Given the description of an element on the screen output the (x, y) to click on. 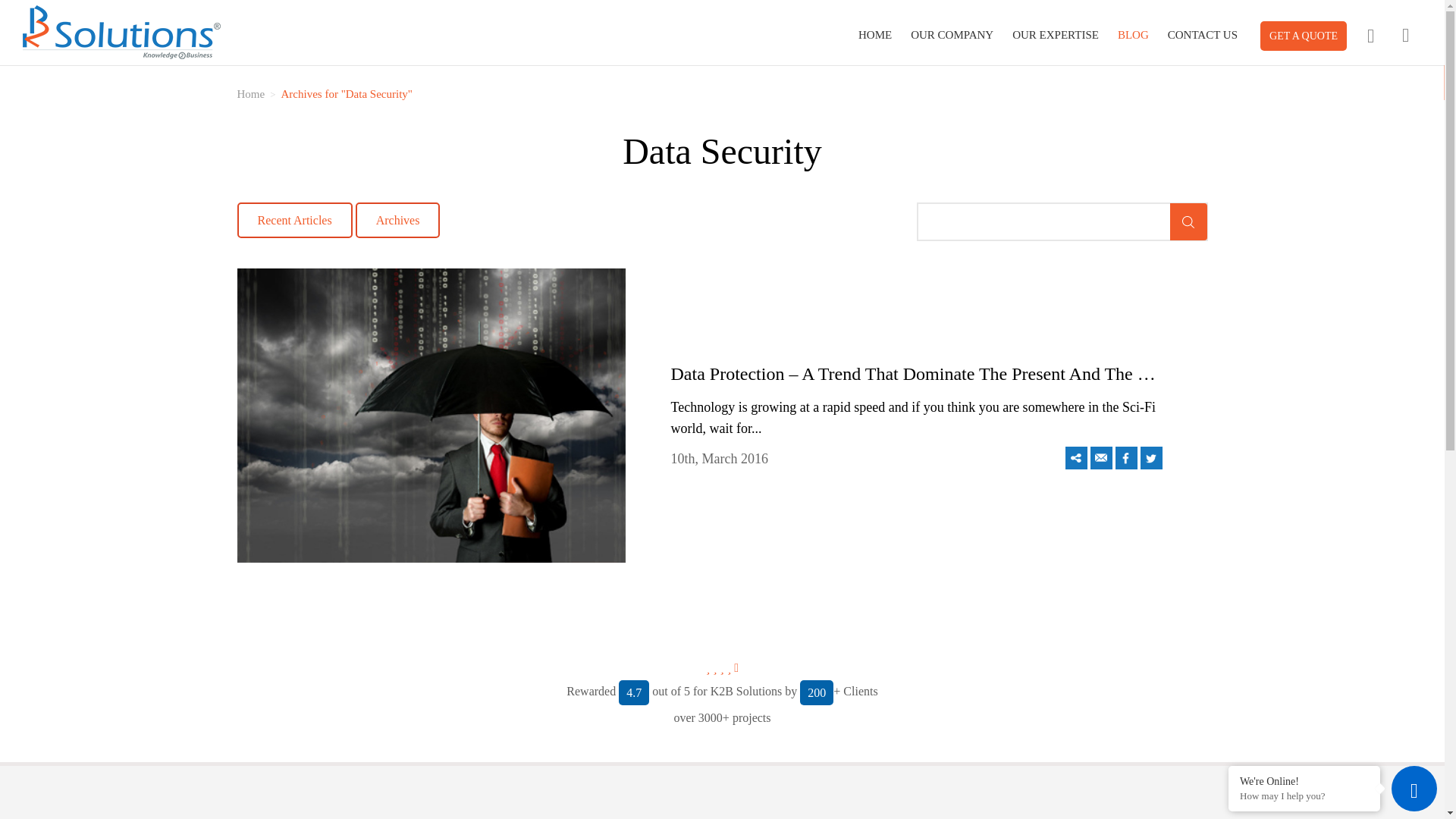
Search (1188, 221)
Search (1188, 221)
